Given the description of an element on the screen output the (x, y) to click on. 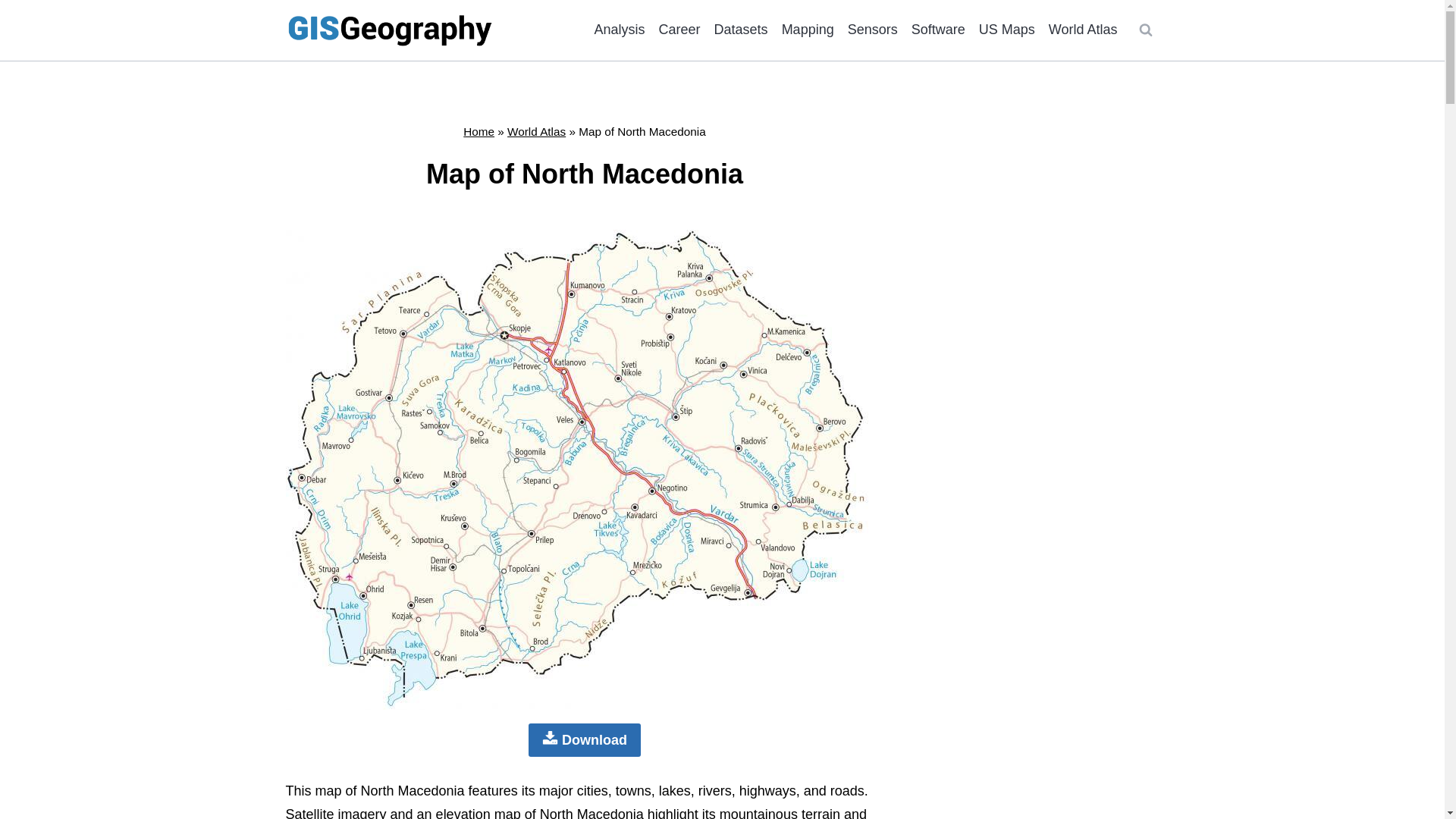
Career (679, 29)
Datasets (740, 29)
US Maps (1007, 29)
Analysis (620, 29)
Software (938, 29)
World Atlas (1083, 29)
Mapping (807, 29)
World Atlas (536, 131)
Download (584, 739)
Sensors (872, 29)
Home (479, 131)
